Given the description of an element on the screen output the (x, y) to click on. 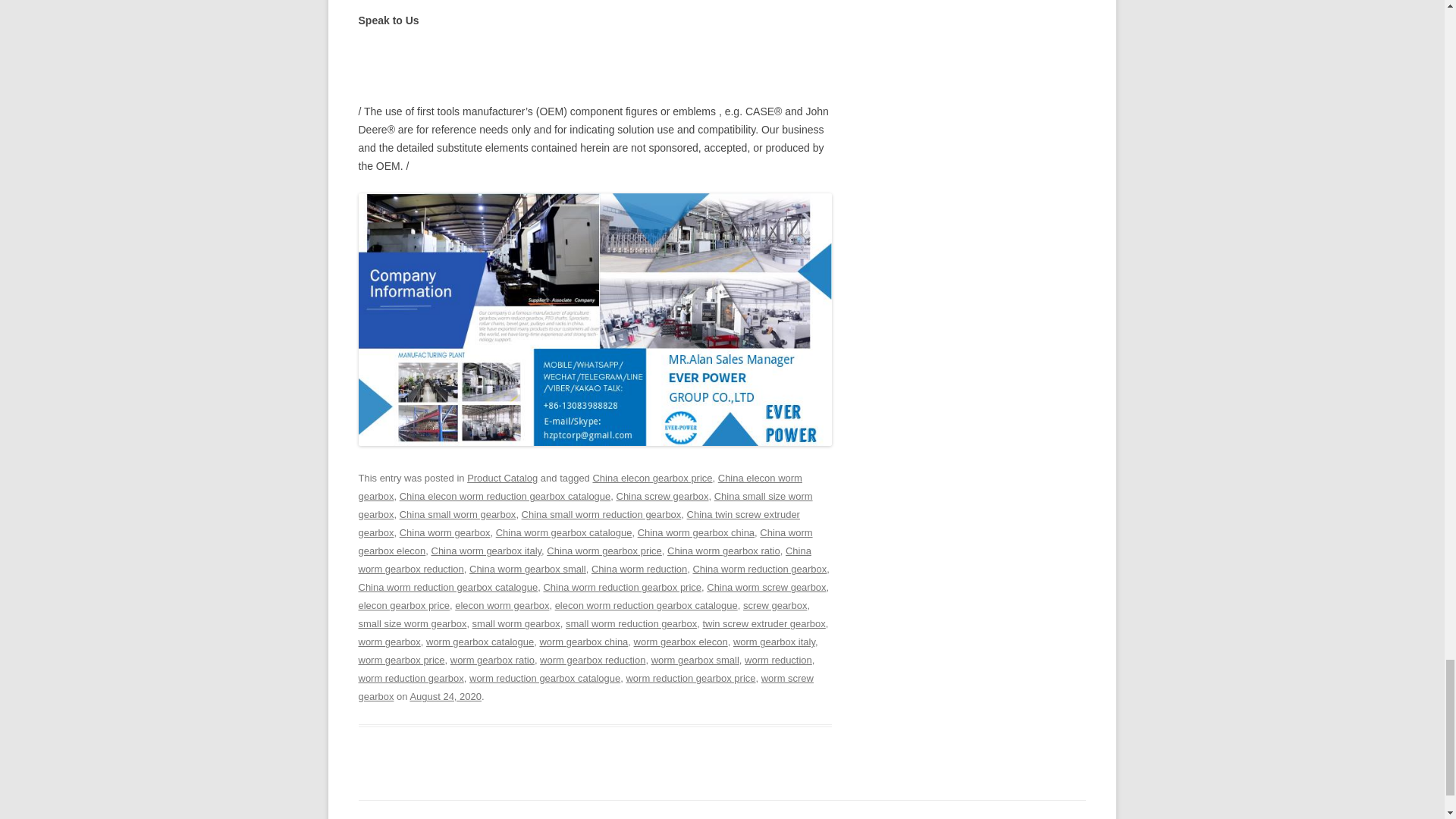
worm gearbox (389, 641)
China worm gearbox italy (485, 550)
small worm gearbox (515, 623)
elecon gearbox price (403, 604)
China elecon worm gearbox (580, 487)
China worm gearbox (444, 532)
5:37 pm (445, 696)
worm gearbox china (582, 641)
China worm gearbox small (527, 568)
China worm reduction gearbox price (622, 586)
China worm reduction gearbox catalogue (447, 586)
China worm gearbox china (695, 532)
China twin screw extruder gearbox (578, 523)
China worm gearbox price (604, 550)
China elecon gearbox price (651, 478)
